Given the description of an element on the screen output the (x, y) to click on. 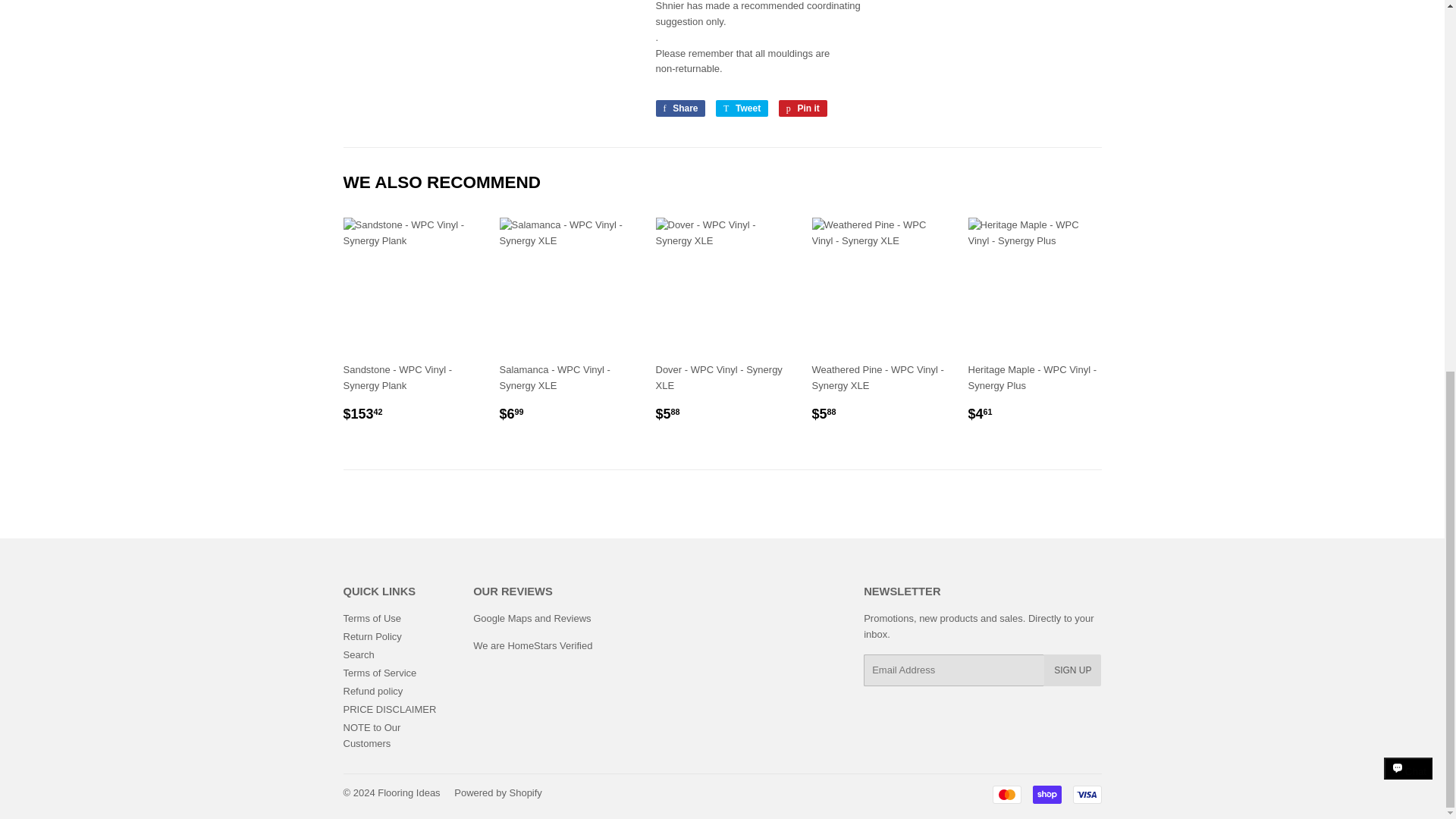
Pin on Pinterest (802, 108)
Terms of Use (679, 108)
Return Policy (371, 618)
Terms of Service (371, 636)
Refund policy (379, 672)
PRICE DISCLAIMER (372, 690)
Mastercard (388, 708)
Tweet on Twitter (742, 108)
Shopify online store chat (1005, 794)
Google Maps and Reviews (742, 108)
Visa (1408, 104)
Shop Pay (802, 108)
